Given the description of an element on the screen output the (x, y) to click on. 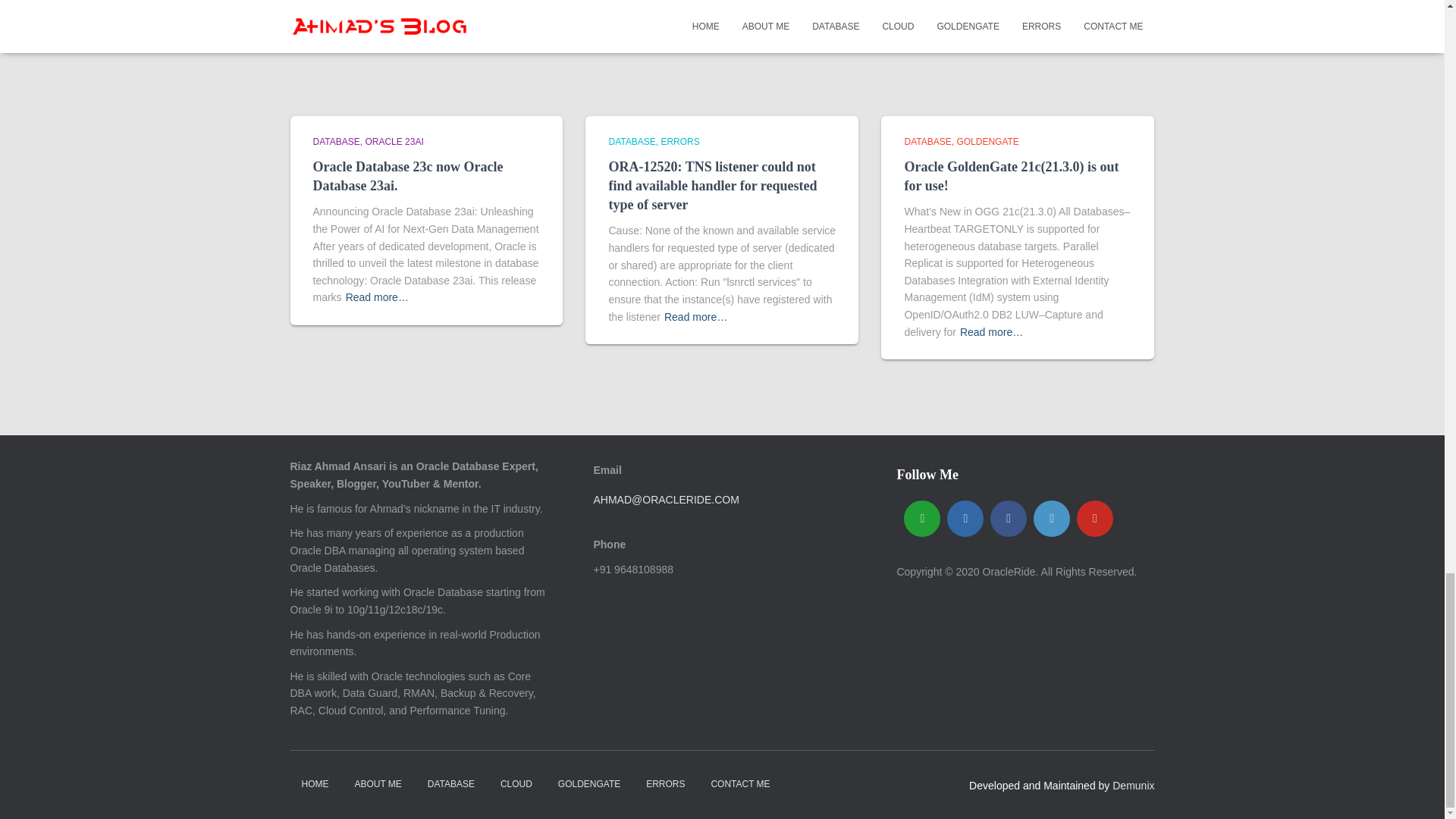
View all posts in ERRORS (679, 141)
View all posts in Database (339, 141)
View all posts in GoldenGate (986, 141)
View all posts in Database (634, 141)
View all posts in Database (930, 141)
View all posts in Oracle 23AI (394, 141)
Oracle Database 23c now Oracle Database 23ai. (407, 175)
